Given the description of an element on the screen output the (x, y) to click on. 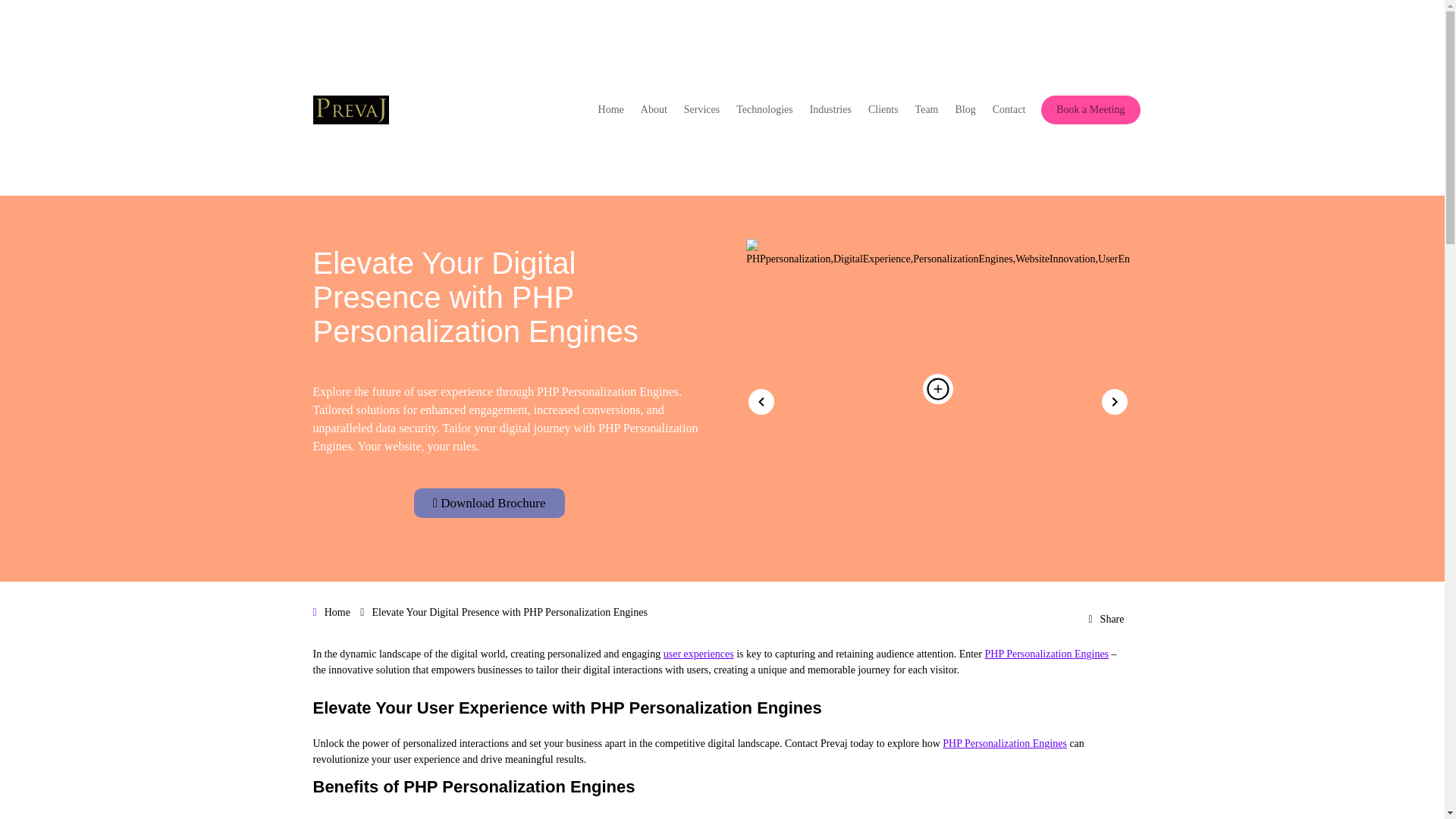
PHP Personalization Engines (1046, 654)
Technologies (764, 109)
Home (337, 612)
Home (611, 109)
Clients (882, 109)
PHP Personalization Engines (1004, 743)
Download Brochure (488, 502)
Book a Meeting (1090, 109)
Contact (1009, 109)
About (653, 109)
